Given the description of an element on the screen output the (x, y) to click on. 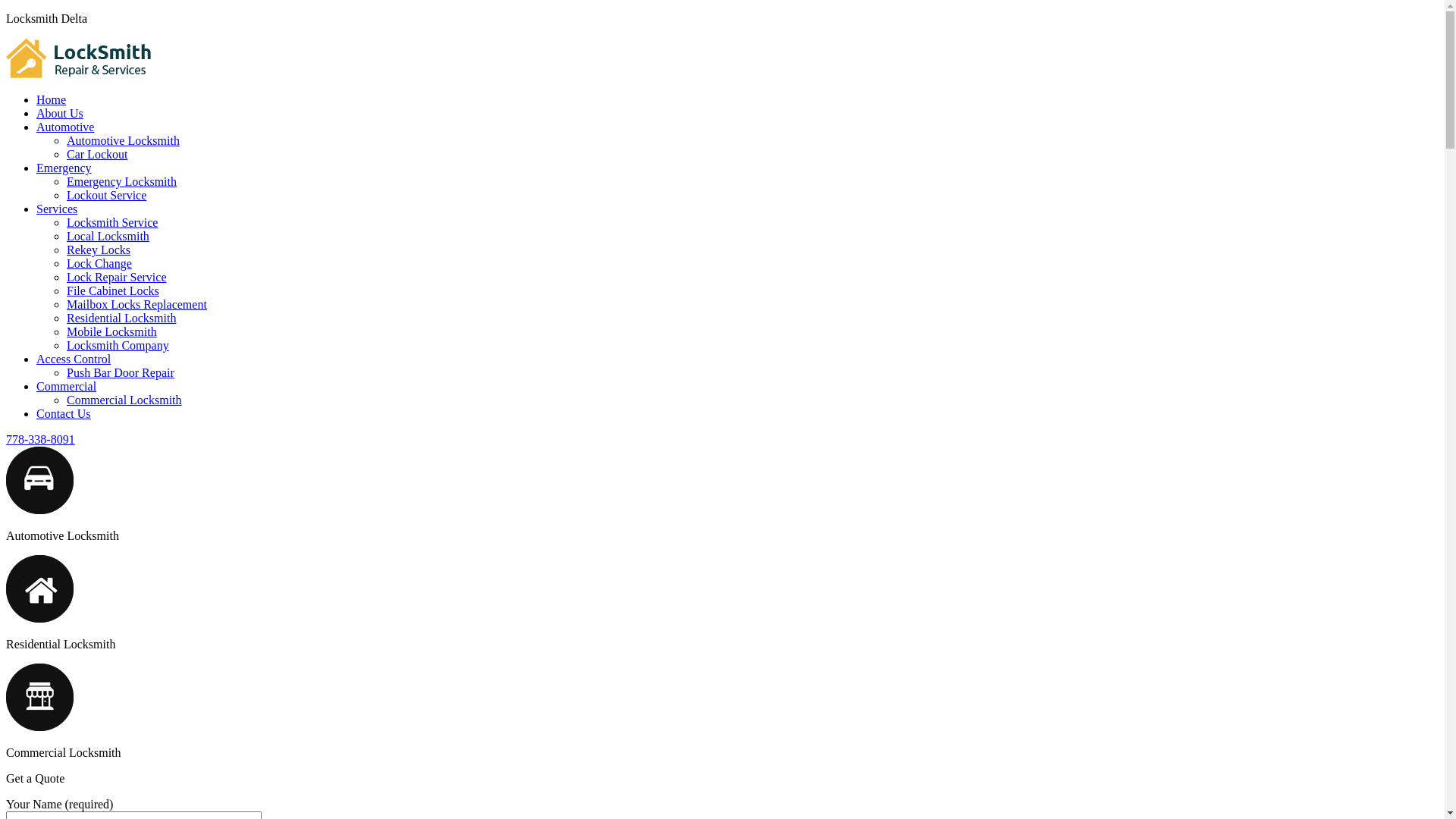
Rekey Locks Element type: text (98, 249)
Services Element type: text (56, 208)
778-338-8091 Element type: text (40, 439)
Lock Change Element type: text (98, 263)
Residential Locksmith Element type: text (120, 317)
Home Element type: text (50, 99)
Emergency Element type: text (63, 167)
Commercial Element type: text (66, 385)
Lockout Service Element type: text (106, 194)
Access Control Element type: text (73, 358)
Push Bar Door Repair Element type: text (120, 372)
Commercial Locksmith Element type: text (124, 399)
Emergency Locksmith Element type: text (121, 181)
Locksmith Service Element type: text (111, 222)
Contact Us Element type: text (63, 413)
Automotive Locksmith Element type: text (122, 140)
Car Lockout Element type: text (96, 153)
Mobile Locksmith Element type: text (111, 331)
Automotive Element type: text (65, 126)
Local Locksmith Element type: text (107, 235)
About Us Element type: text (59, 112)
File Cabinet Locks Element type: text (112, 290)
Locksmith Company Element type: text (117, 344)
Lock Repair Service Element type: text (116, 276)
Mailbox Locks Replacement Element type: text (136, 304)
